Given the description of an element on the screen output the (x, y) to click on. 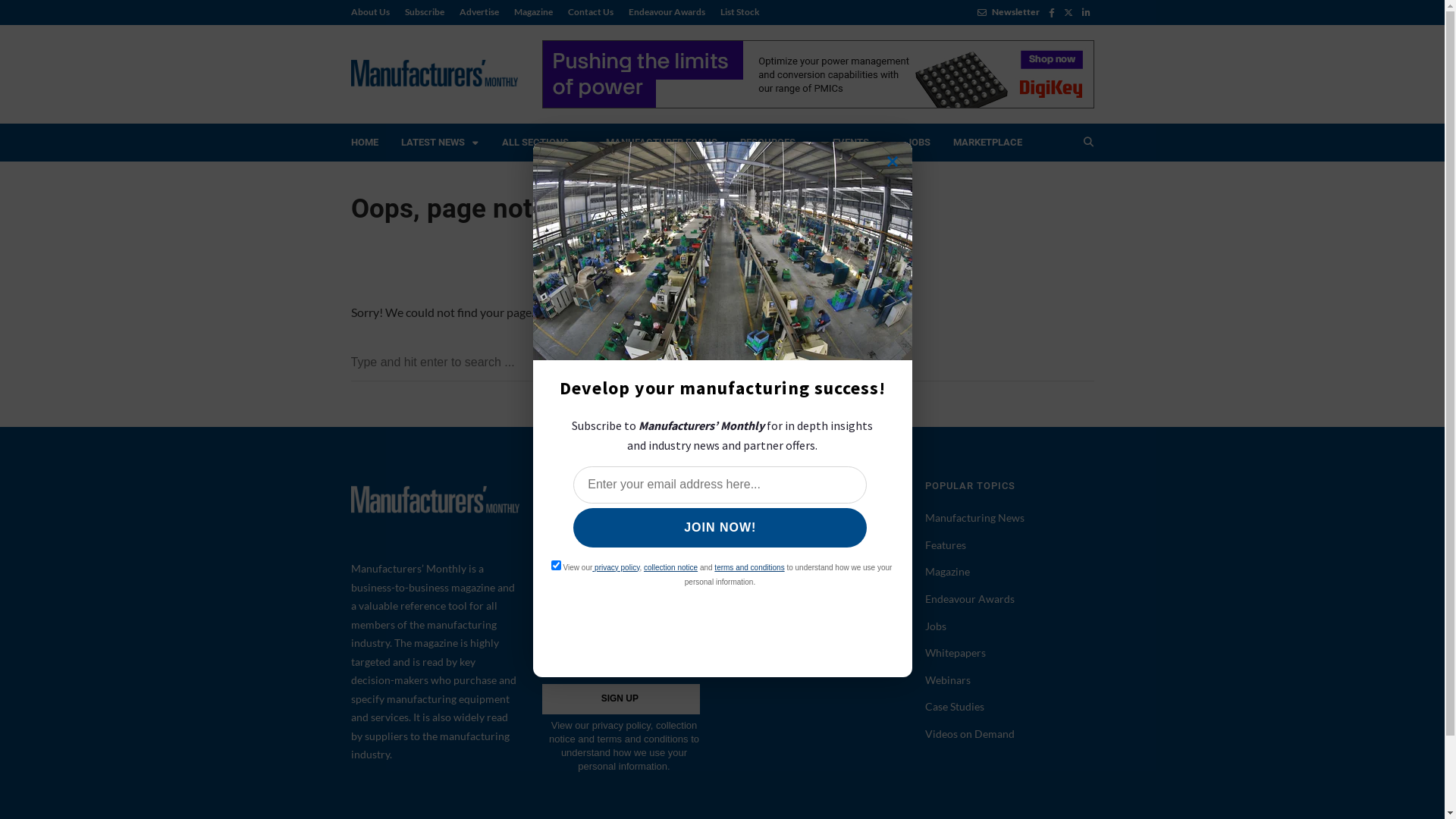
MANUFACTURER FOCUS Element type: text (661, 142)
Videos on Demand Element type: text (969, 733)
Webinars Element type: text (947, 679)
Subscribe Element type: text (757, 611)
Features Element type: text (945, 544)
Manufacturing News Element type: text (974, 517)
MARKETPLACE Element type: text (987, 142)
Terms & Conditions Element type: text (780, 664)
HOME Element type: text (364, 142)
Subscribe Element type: text (424, 11)
3rd party ad content Element type: hover (817, 74)
Advertise Element type: text (478, 11)
Contact Us Element type: text (589, 11)
Magazine Element type: text (533, 11)
Whitepapers Element type: text (955, 652)
Close Element type: hover (892, 161)
About Us Element type: text (756, 530)
Contact Us Element type: text (760, 583)
Footer Newsletter Signup Element type: hover (626, 677)
LATEST NEWS Element type: text (439, 142)
Advertise Element type: text (756, 557)
Endeavour Awards Element type: text (969, 598)
RESOURCES Element type: text (774, 142)
Privacy Policy Element type: text (767, 637)
About Us Element type: text (373, 11)
Jobs Element type: text (935, 625)
EVENTS Element type: text (857, 142)
Endeavour Awards Element type: text (666, 11)
JOBS Element type: text (917, 142)
Newsletter Element type: text (1007, 11)
ALL SECTIONS Element type: text (541, 142)
List Stock Element type: text (735, 11)
Magazine Element type: text (947, 570)
Case Studies Element type: text (954, 705)
